Given the description of an element on the screen output the (x, y) to click on. 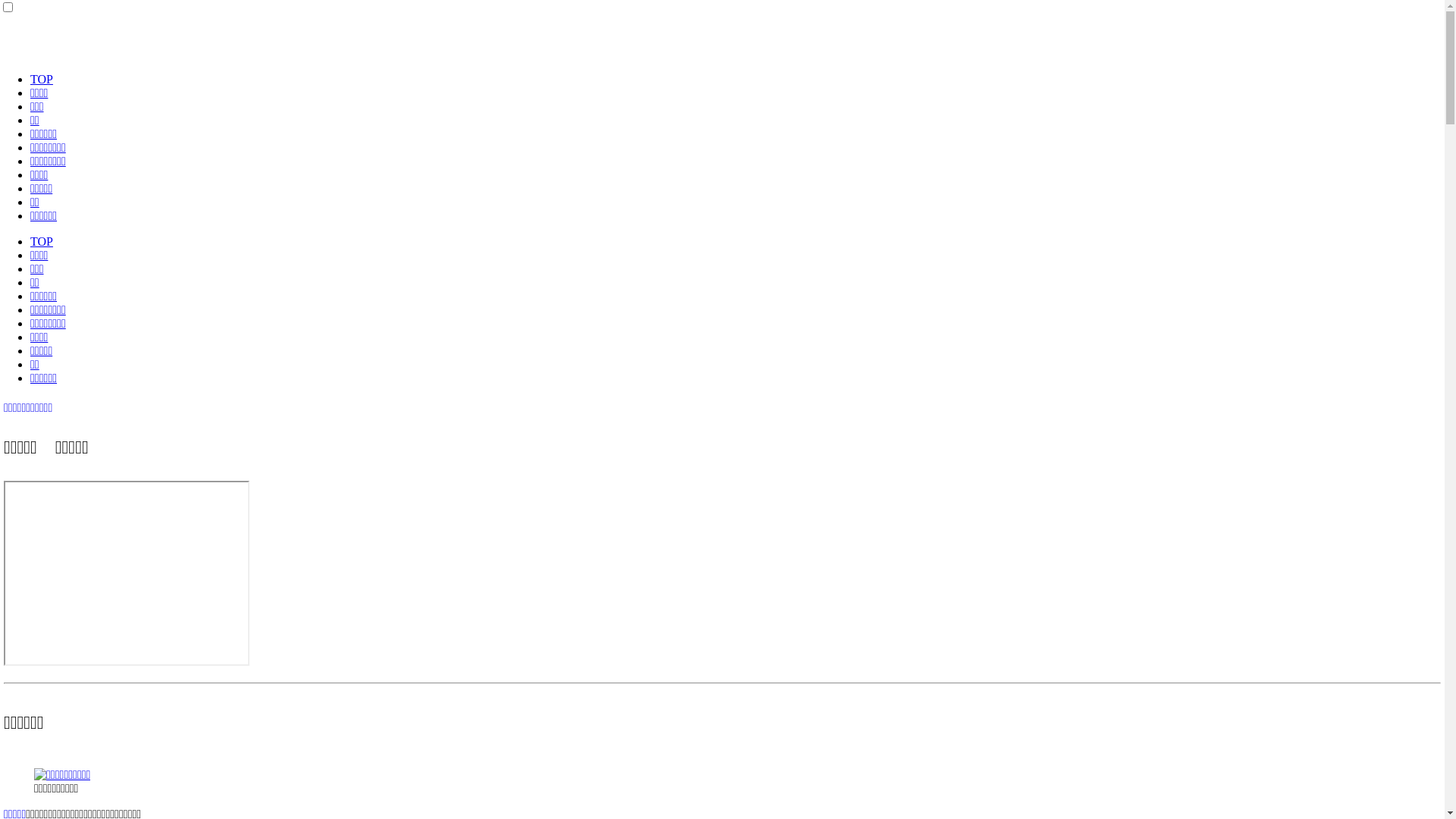
TOP Element type: text (41, 241)
TOP Element type: text (41, 78)
